Given the description of an element on the screen output the (x, y) to click on. 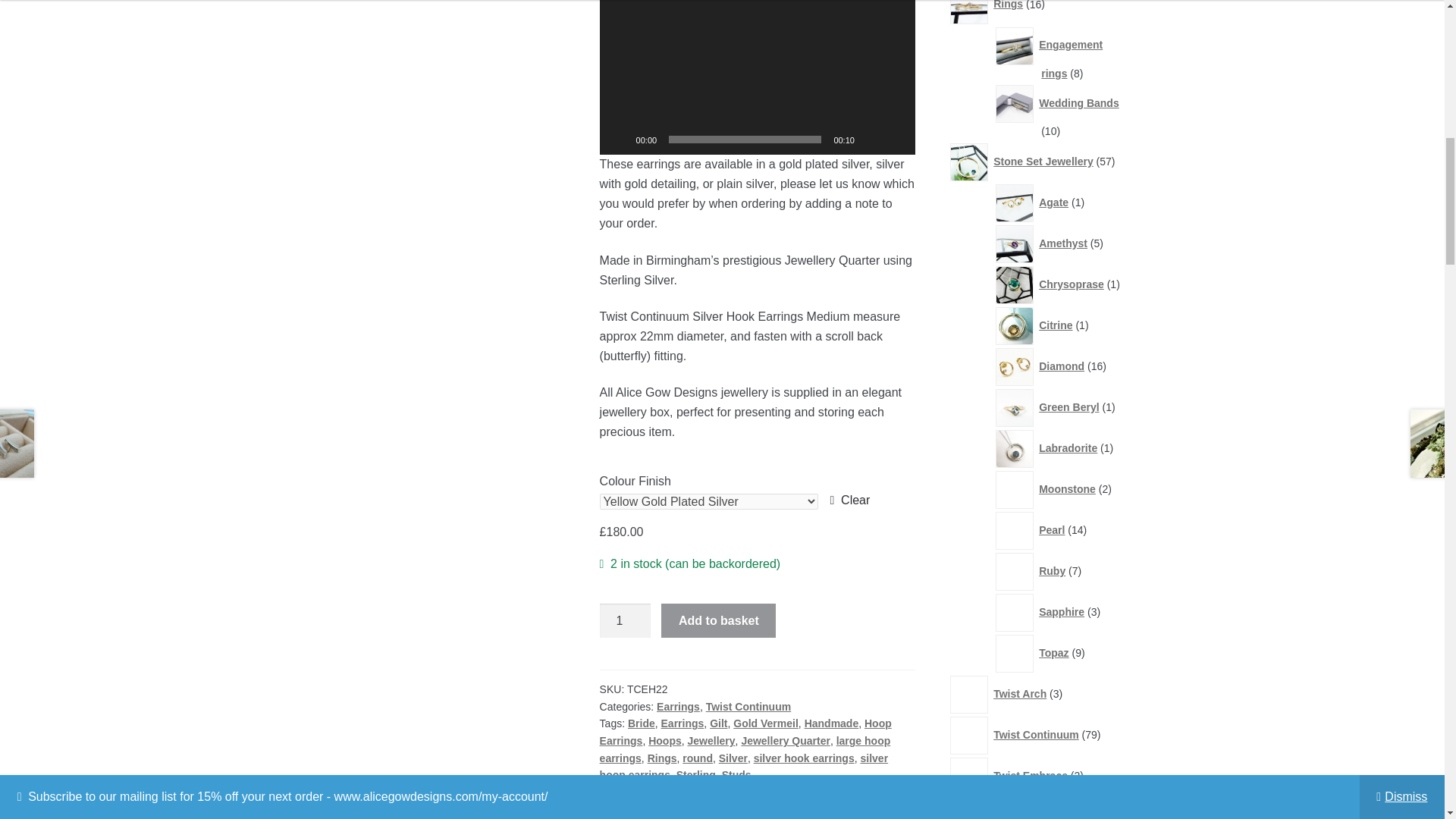
Mute (871, 139)
Play (619, 139)
1 (624, 620)
